Given the description of an element on the screen output the (x, y) to click on. 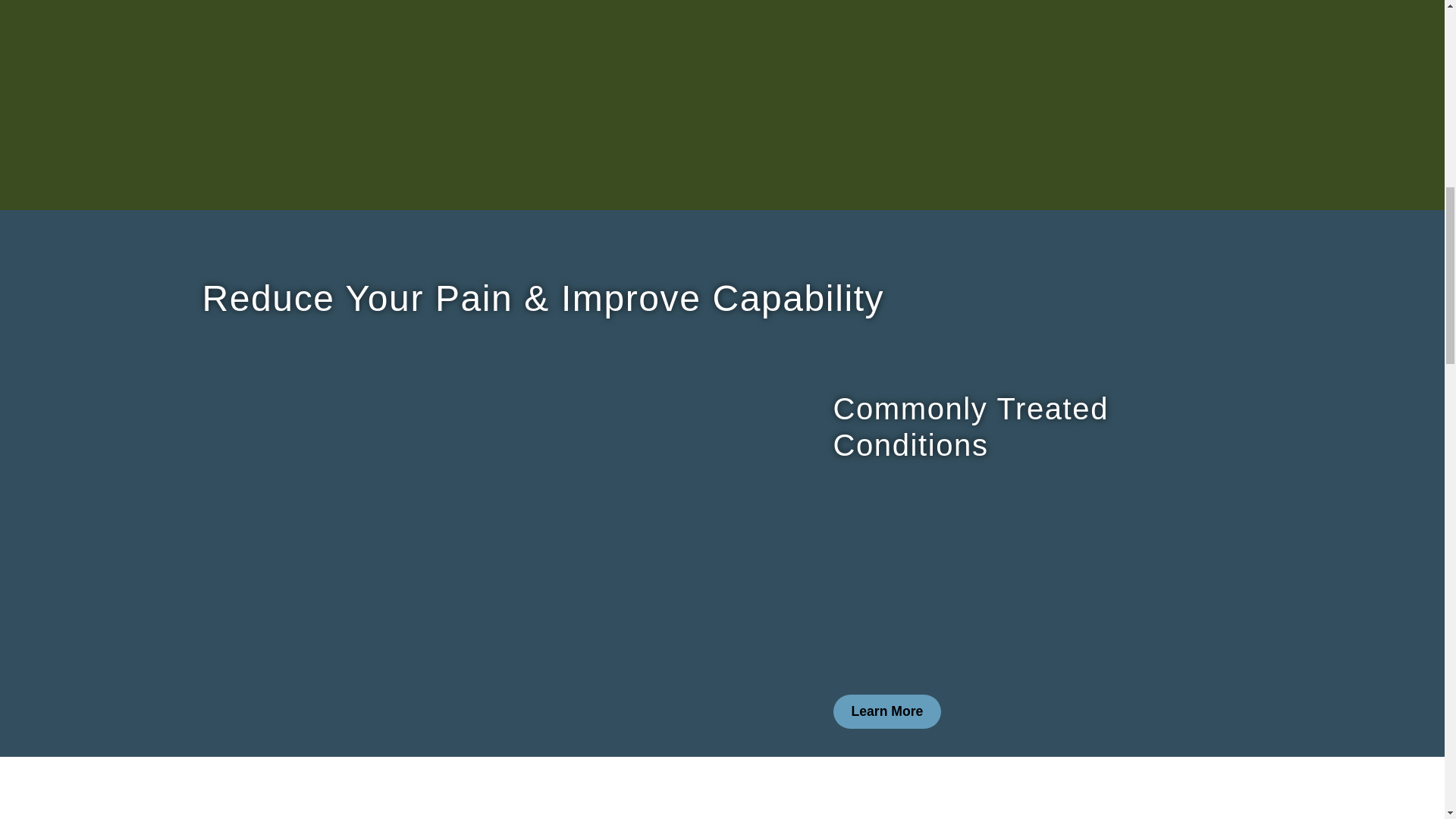
Learn More (886, 711)
